Given the description of an element on the screen output the (x, y) to click on. 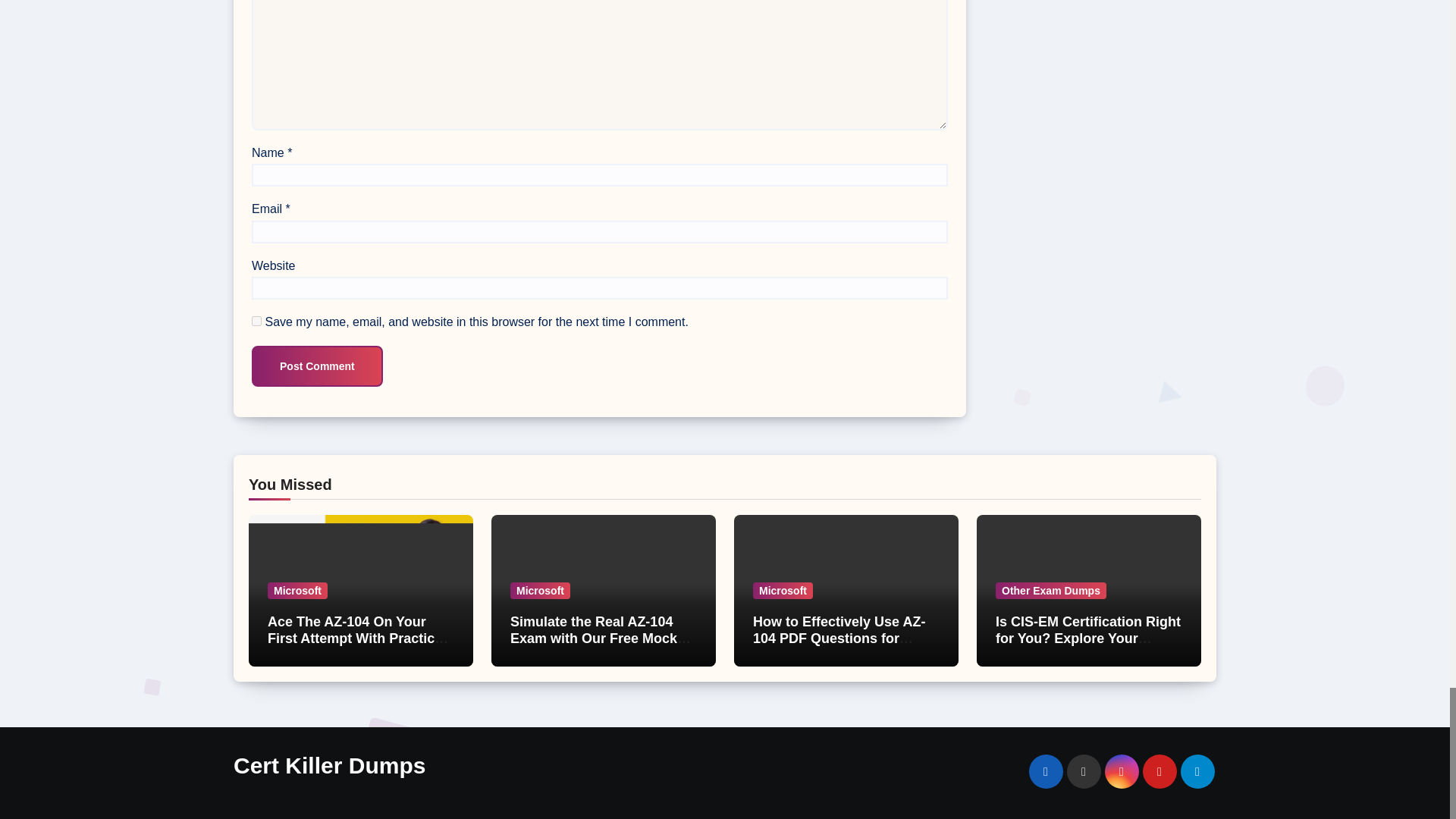
Post Comment (316, 365)
yes (256, 320)
